Given the description of an element on the screen output the (x, y) to click on. 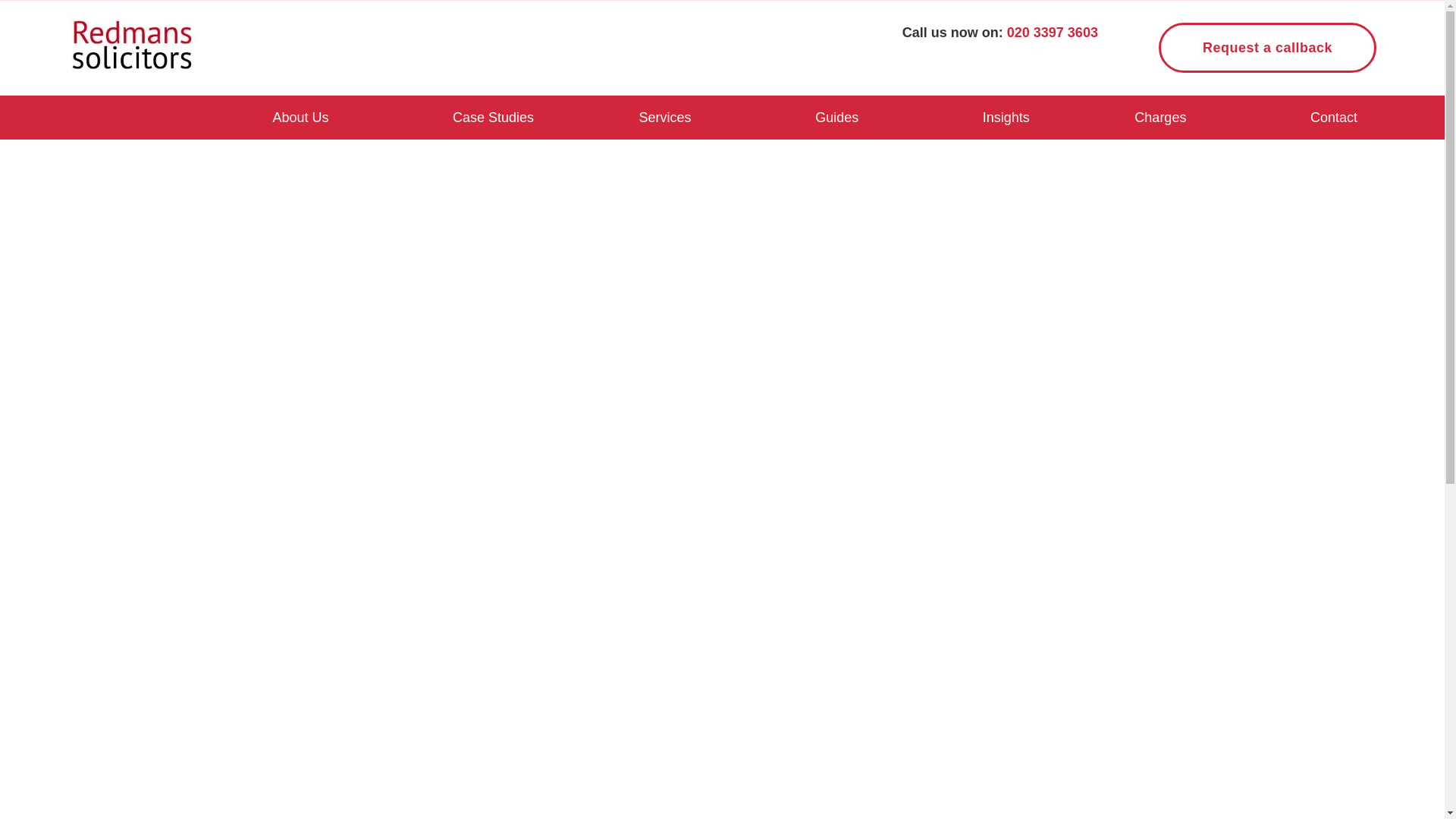
Request a callback (1266, 47)
About Us (300, 117)
020 3397 3603 (1052, 32)
Contact (1334, 117)
Guides (836, 117)
Charges (1160, 117)
Request a callback (1266, 47)
Insights (1006, 117)
Services (665, 117)
redmans-logo (132, 45)
